Given the description of an element on the screen output the (x, y) to click on. 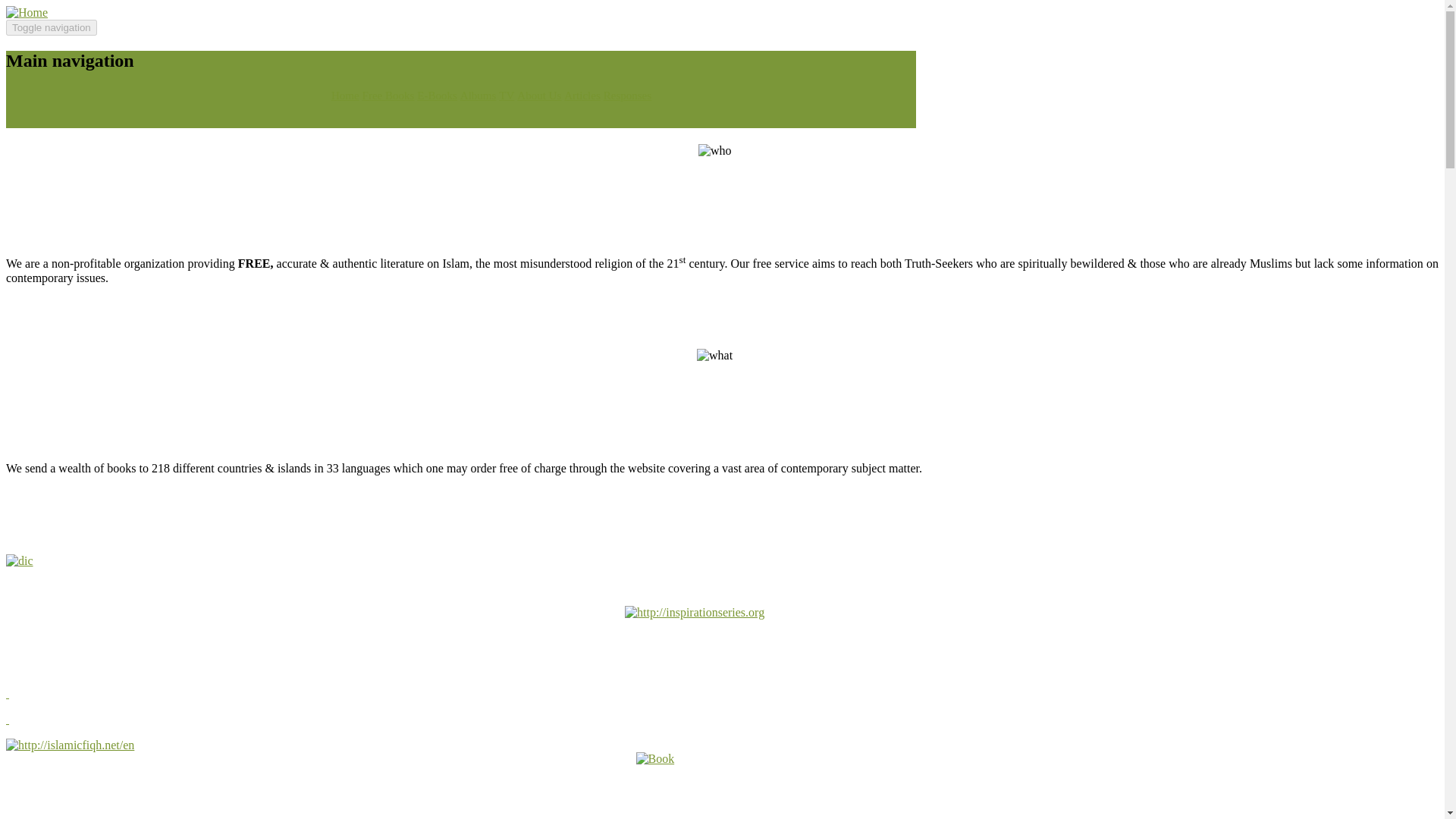
Toggle navigation (51, 27)
Youtube Channel (506, 95)
Articles (581, 95)
About Us (538, 95)
TV (506, 95)
E-Books (436, 95)
Home (26, 11)
Responses (627, 95)
Albums (478, 95)
Free Books (388, 95)
